Given the description of an element on the screen output the (x, y) to click on. 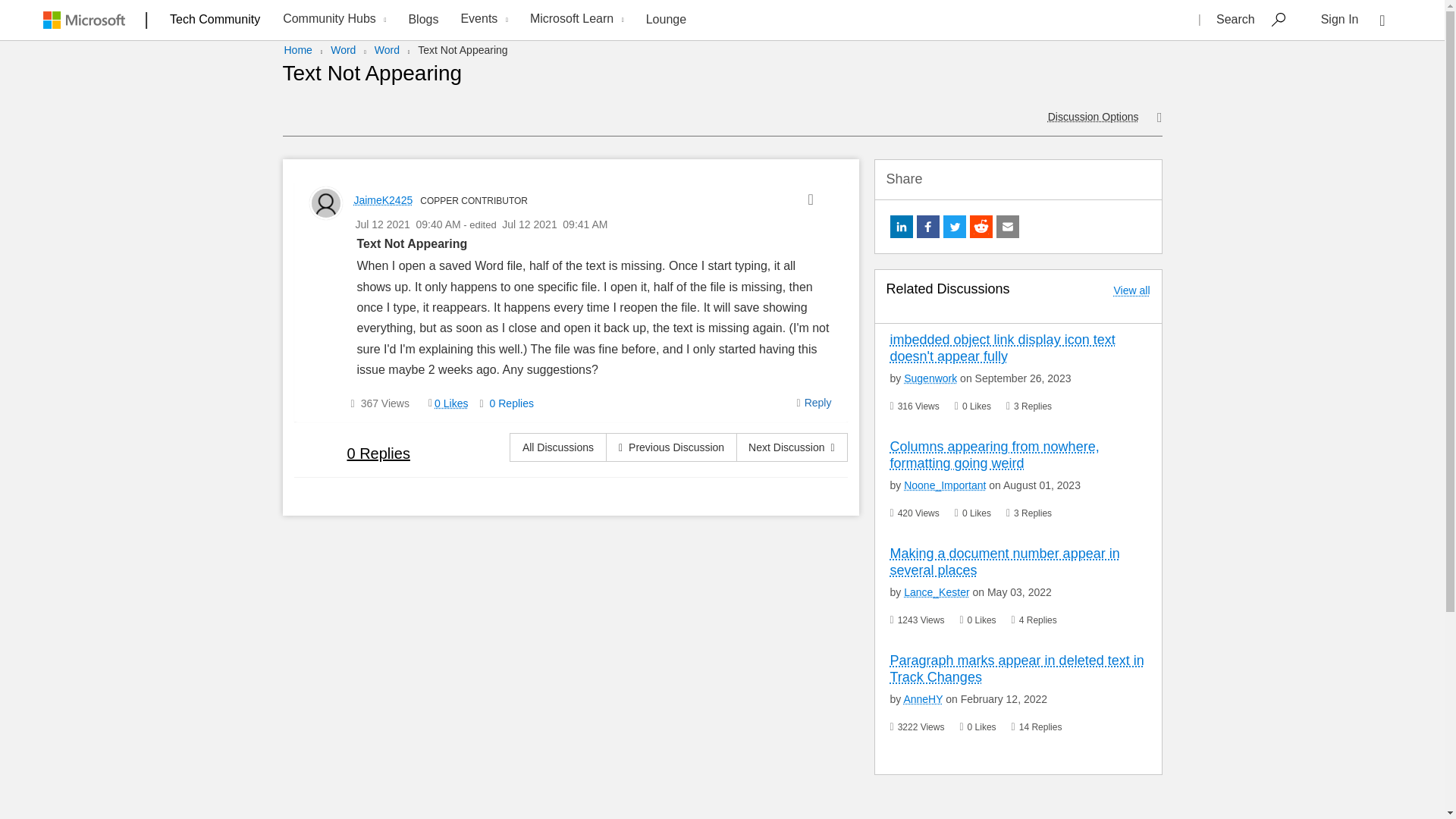
Community Hubs (332, 19)
Tech Community (215, 18)
